Given the description of an element on the screen output the (x, y) to click on. 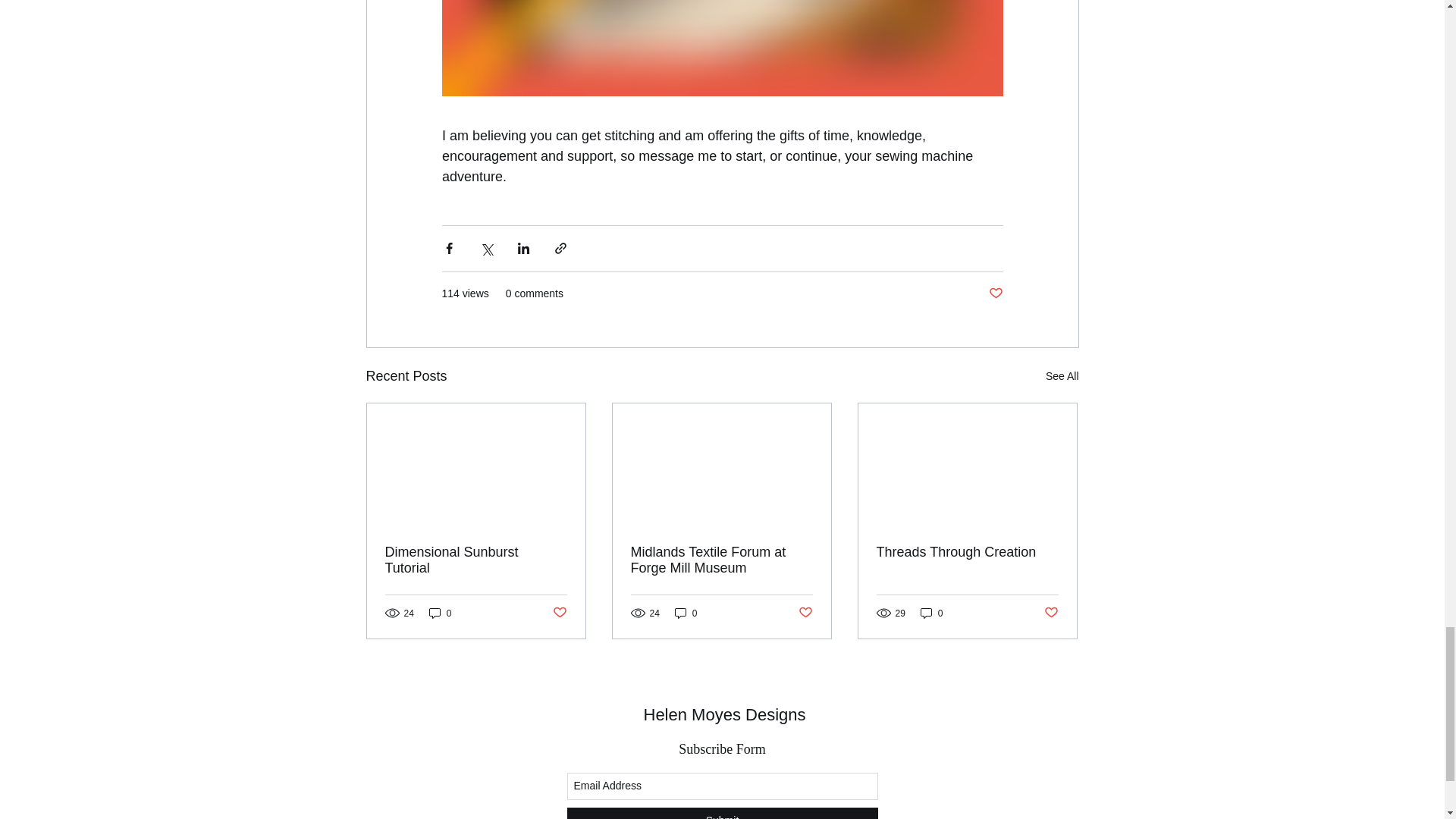
Post not marked as liked (558, 612)
0 (931, 612)
Post not marked as liked (995, 293)
0 (685, 612)
Dimensional Sunburst Tutorial (476, 560)
Post not marked as liked (804, 612)
See All (1061, 376)
0 (440, 612)
Threads Through Creation (967, 552)
Midlands Textile Forum at Forge Mill Museum (721, 560)
